Given the description of an element on the screen output the (x, y) to click on. 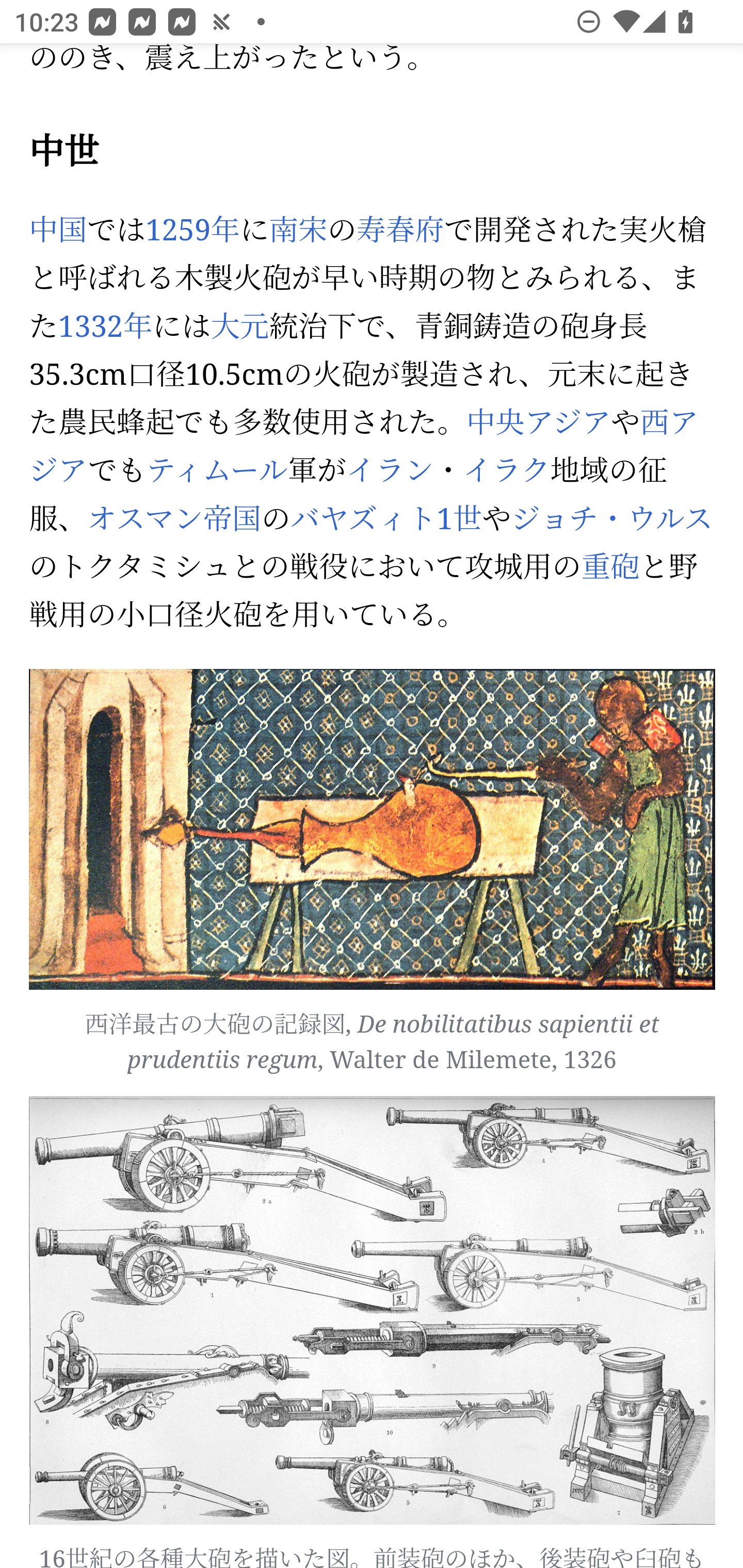
中国 (58, 231)
1259年 (191, 231)
南宋 (297, 231)
寿春府 (400, 231)
1332年 (105, 326)
大元 (240, 326)
西アジア (363, 447)
中央アジア (538, 424)
ティムール (216, 471)
イラン (389, 471)
イラク (506, 471)
オスマン帝国 (173, 519)
バヤズィト1世 (386, 519)
ジョチ・ウルス (610, 519)
重砲 (609, 567)
1280px-16th_Century_Artillerie (372, 1311)
